Given the description of an element on the screen output the (x, y) to click on. 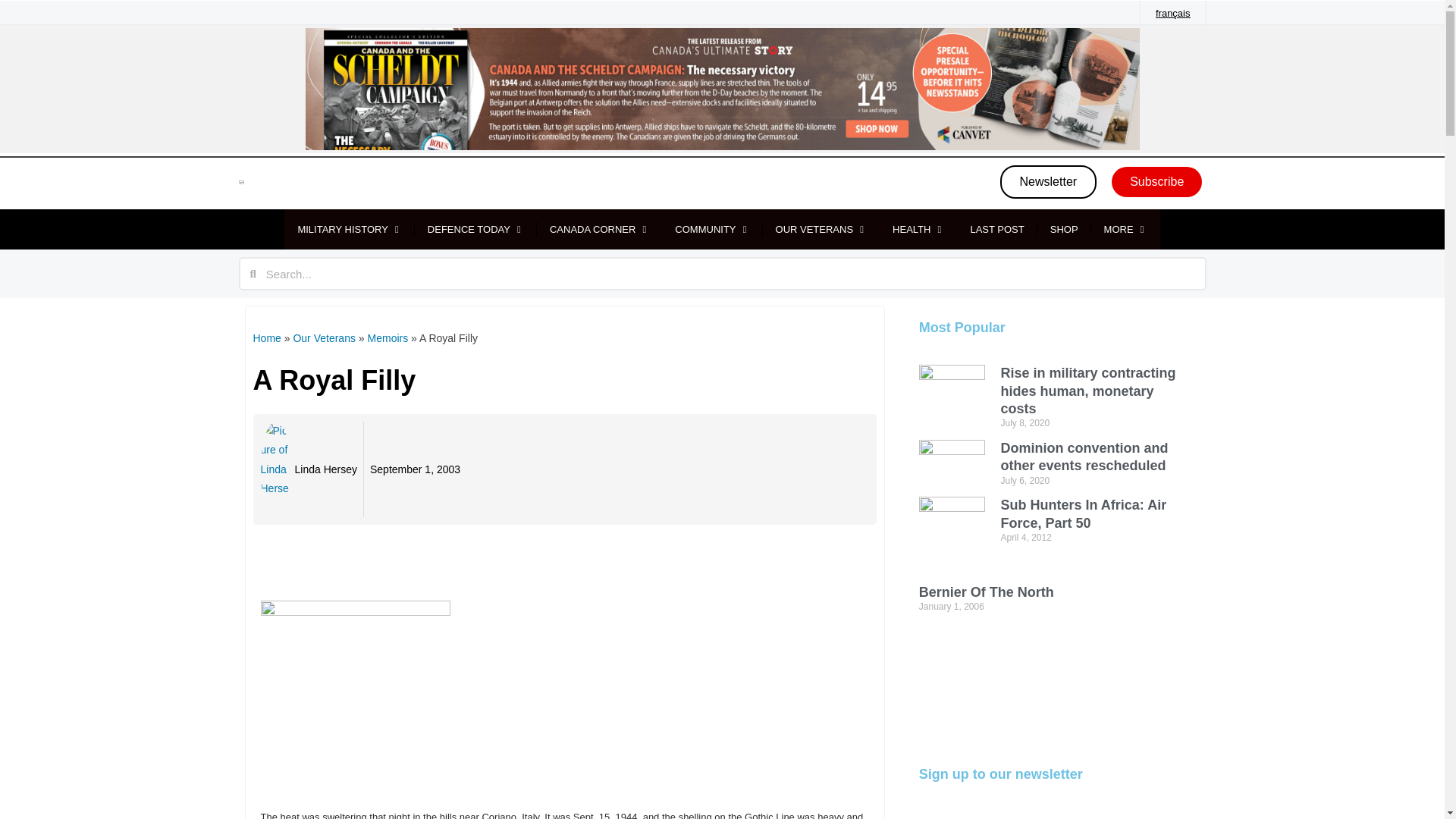
Newsletter (1048, 182)
Subscribe (1157, 182)
MILITARY HISTORY (342, 229)
